Given the description of an element on the screen output the (x, y) to click on. 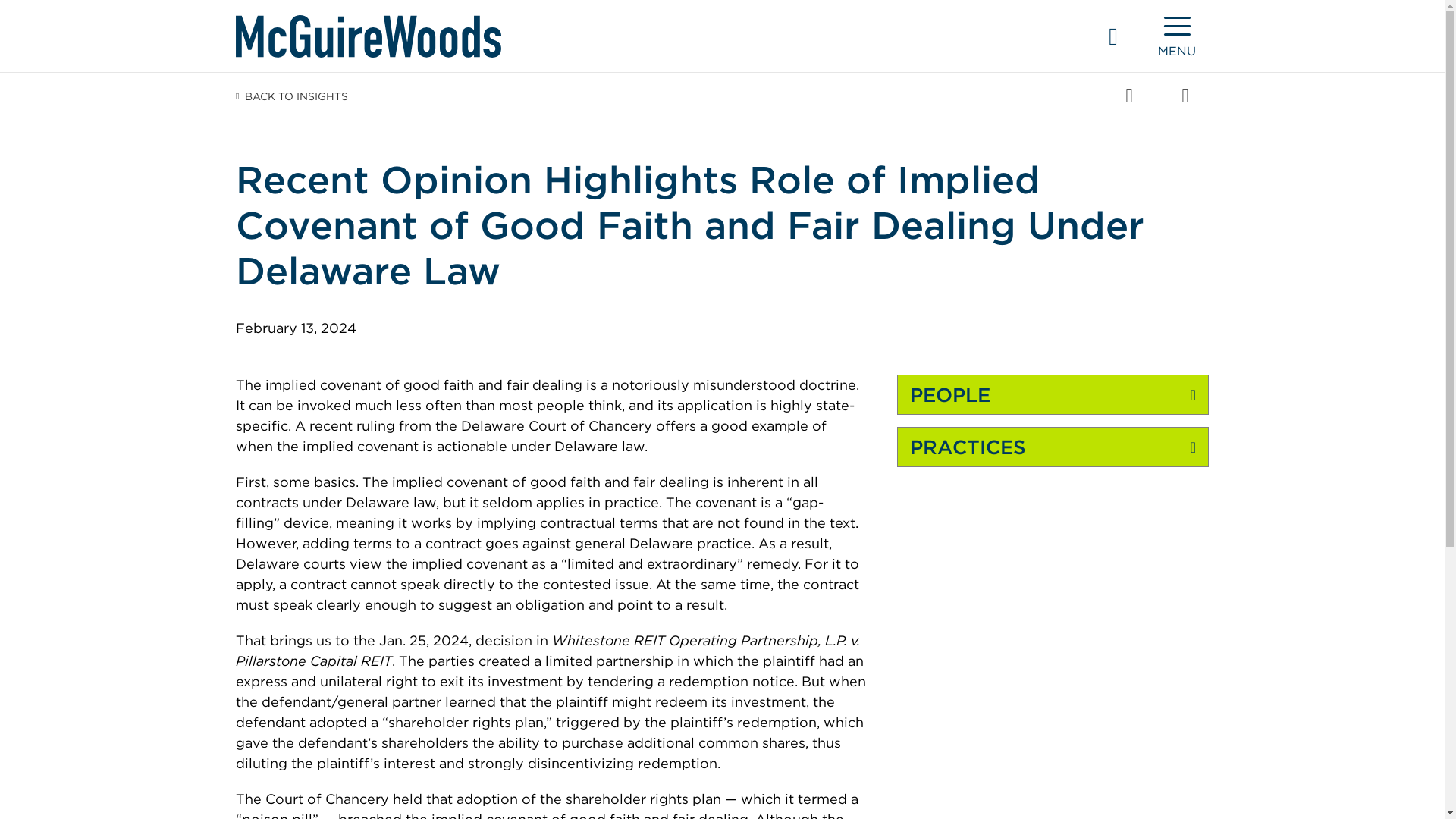
BACK TO INSIGHTS (291, 95)
PEOPLE (1053, 394)
PRACTICES (1053, 446)
